Given the description of an element on the screen output the (x, y) to click on. 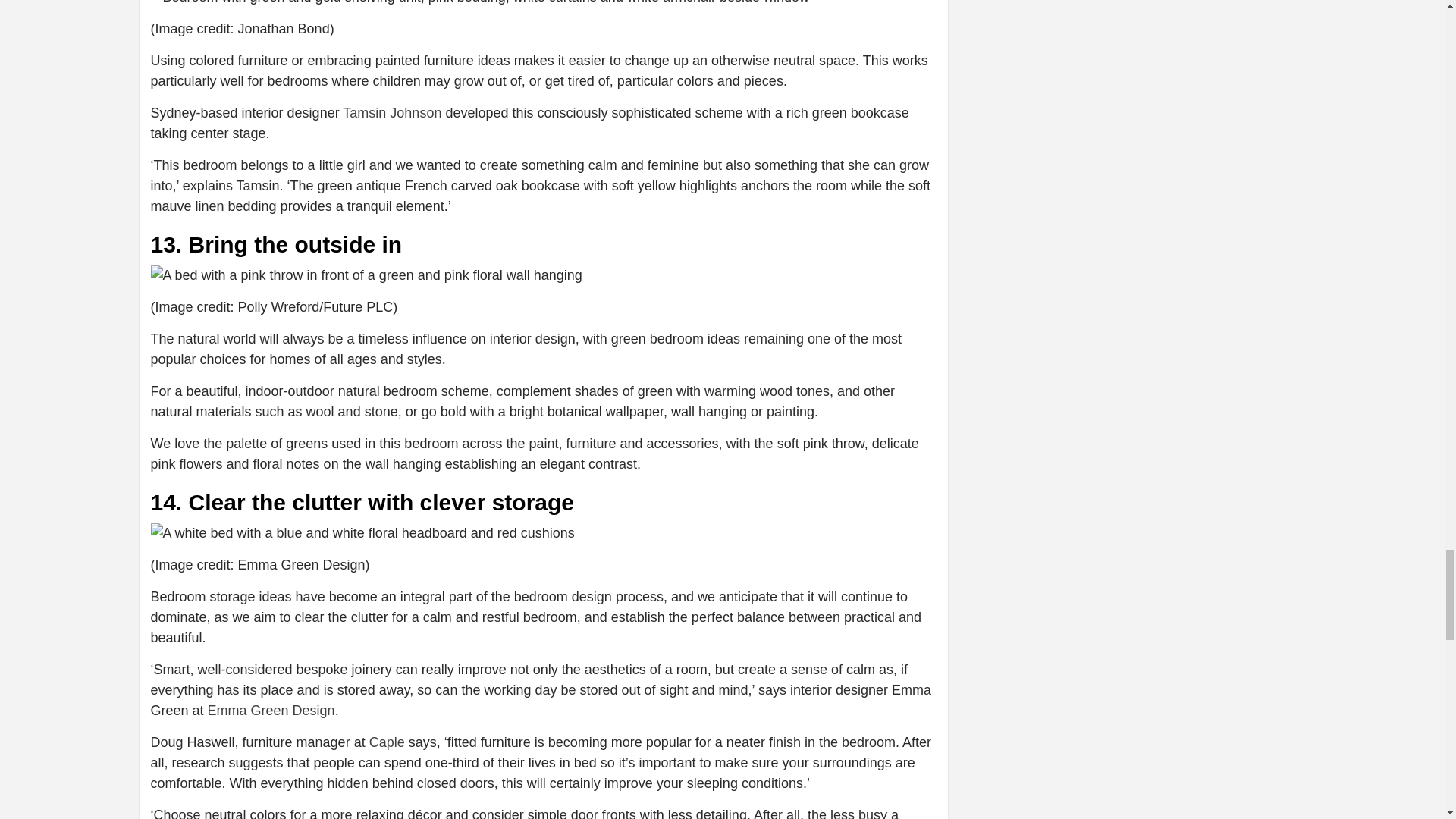
Emma Green Design (271, 710)
Caple (386, 742)
Tamsin Johnson (391, 112)
